Given the description of an element on the screen output the (x, y) to click on. 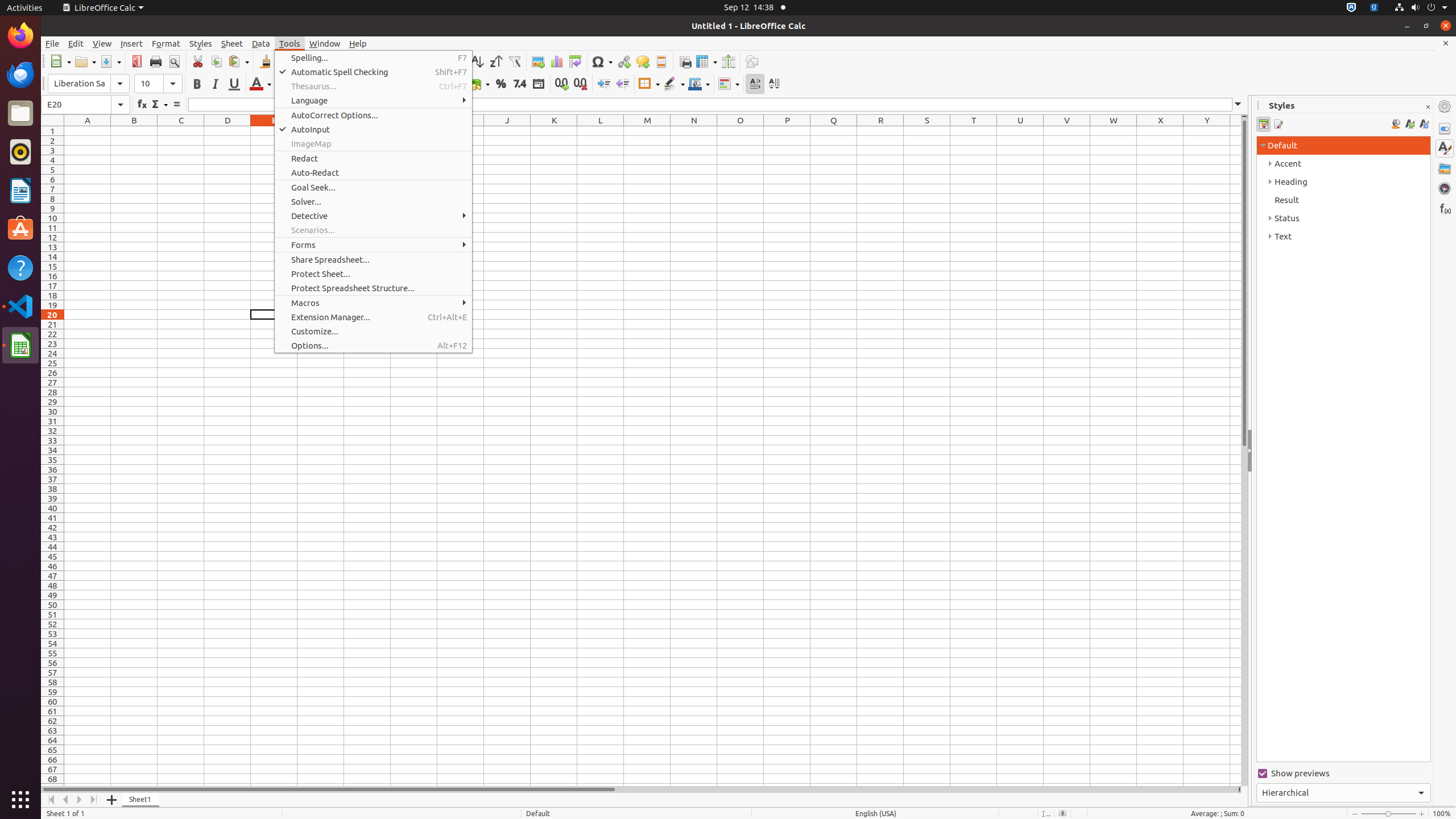
I1 Element type: table-cell (460, 130)
Functions Element type: radio-button (1444, 208)
Draw Functions Element type: toggle-button (751, 61)
Horizontal scroll bar Element type: scroll-bar (639, 789)
Print Area Element type: push-button (684, 61)
